Given the description of an element on the screen output the (x, y) to click on. 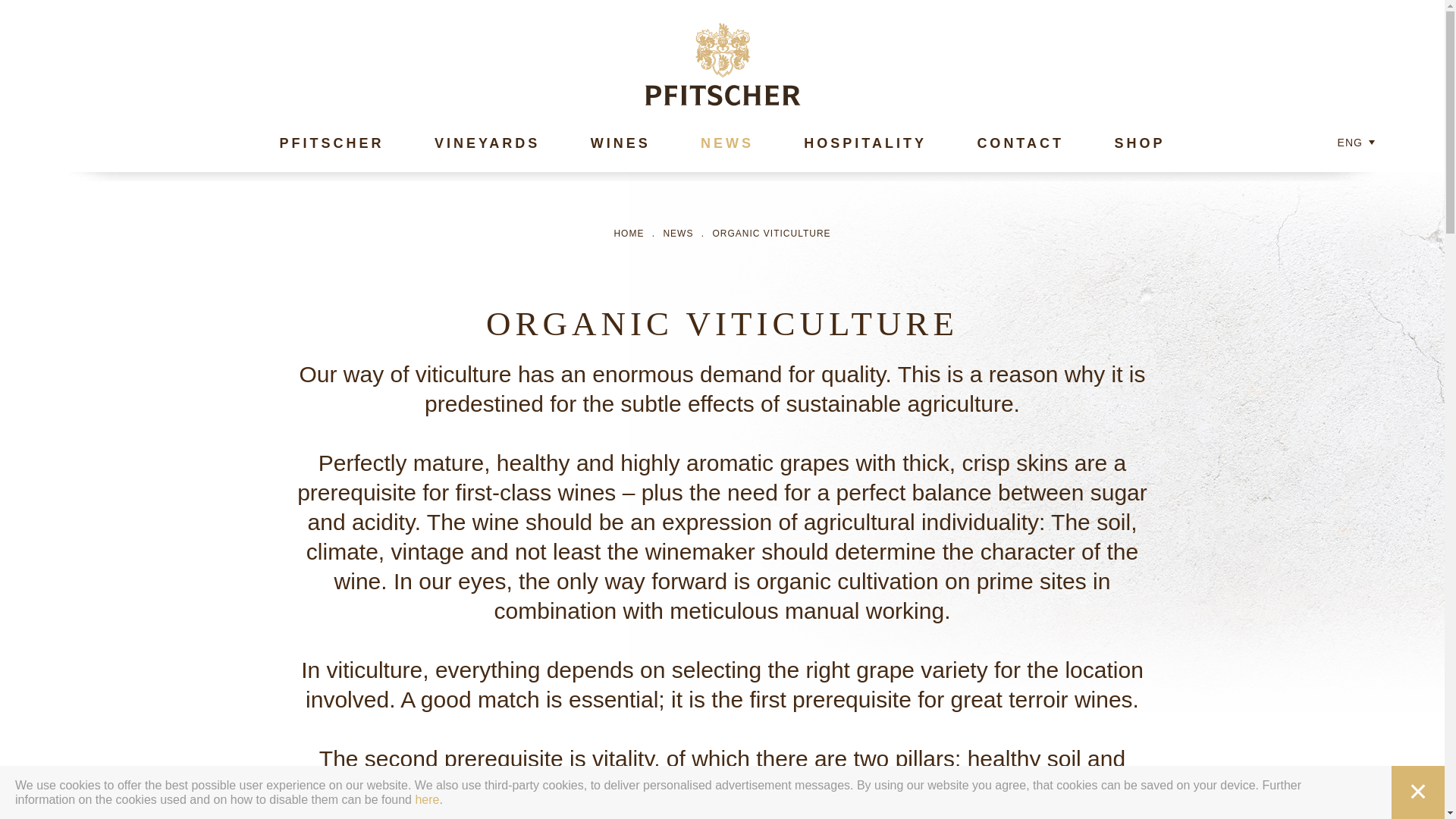
SHOP (1138, 142)
PFITSCHER (331, 142)
VINEYARDS (486, 142)
HOSPITALITY (864, 142)
ENG (1350, 138)
NEWS (677, 233)
here (426, 799)
HOME (627, 233)
CONTACT (1020, 142)
WINES (620, 142)
